Given the description of an element on the screen output the (x, y) to click on. 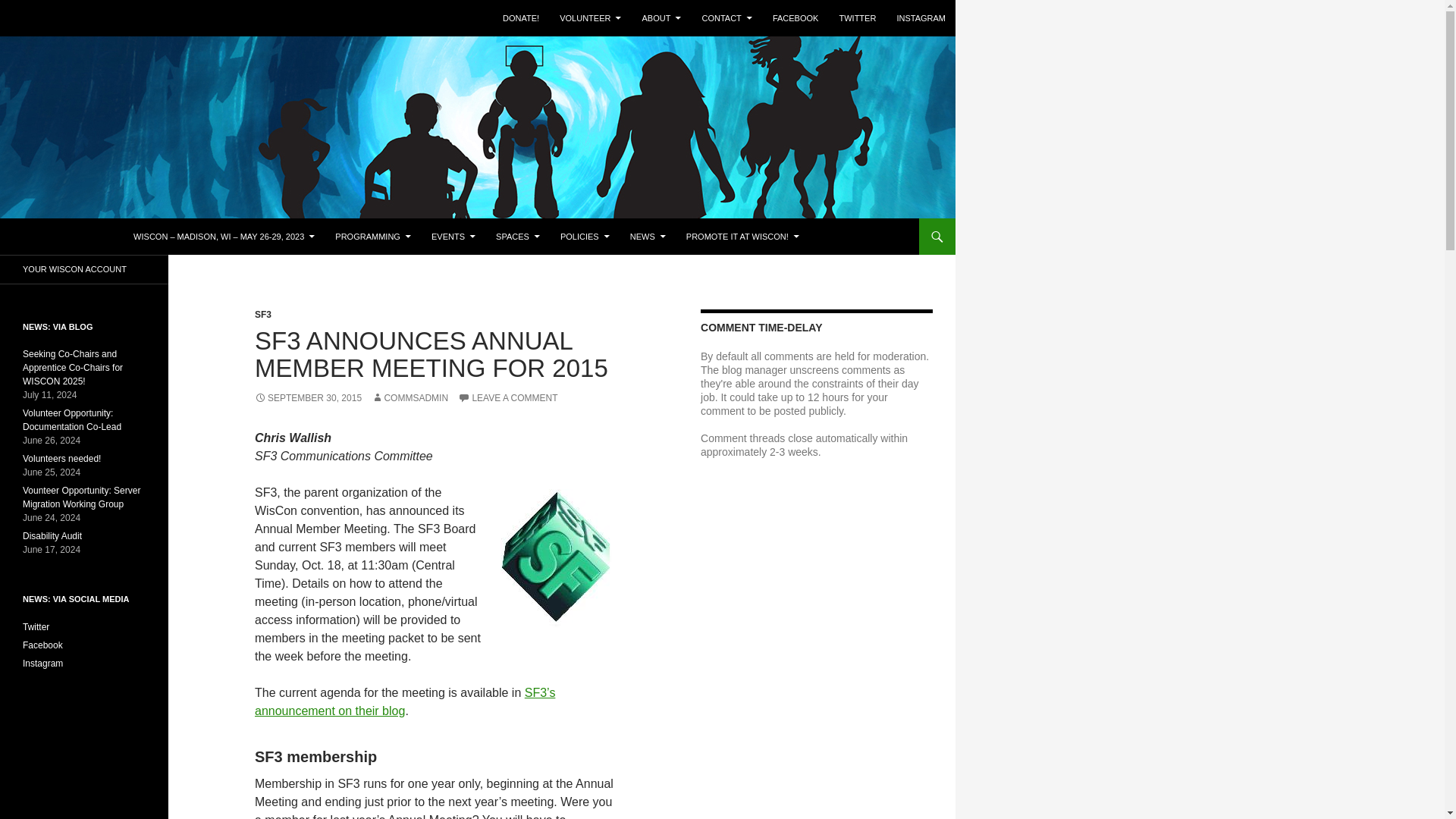
ABOUT (660, 18)
WisCon (48, 236)
PROGRAMMING (373, 236)
CONTACT (726, 18)
INSTAGRAM (920, 18)
VOLUNTEER (590, 18)
TWITTER (857, 18)
DONATE! (520, 18)
FACEBOOK (795, 18)
